Given the description of an element on the screen output the (x, y) to click on. 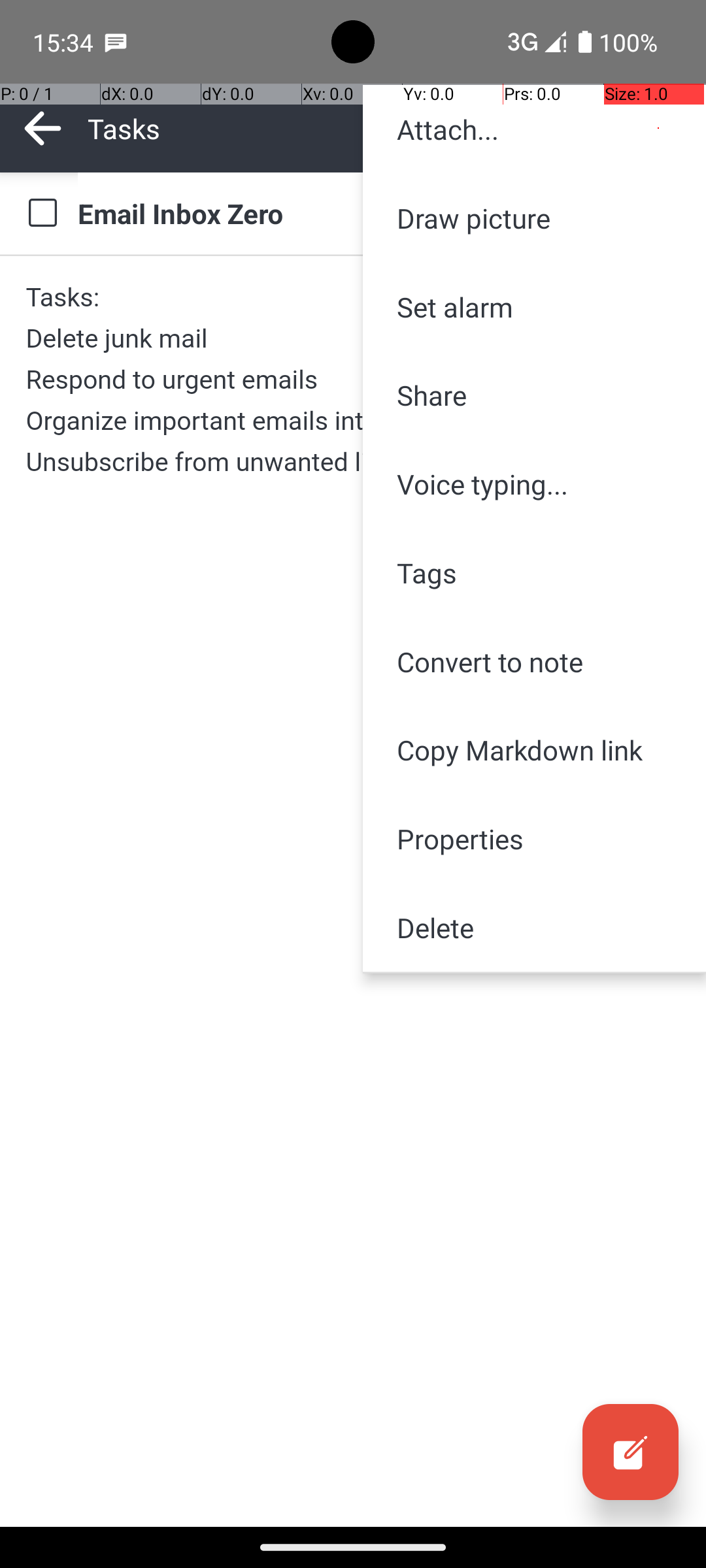
Email Inbox Zero Element type: android.widget.EditText (378, 213)
Attach... Element type: android.widget.TextView (534, 129)
Draw picture Element type: android.widget.TextView (534, 217)
Set alarm Element type: android.widget.TextView (534, 306)
Voice typing... Element type: android.widget.TextView (534, 484)
Tags Element type: android.widget.TextView (534, 572)
Convert to note Element type: android.widget.TextView (534, 661)
Copy Markdown link Element type: android.widget.TextView (534, 749)
Properties Element type: android.widget.TextView (534, 838)
Tasks:
Delete junk mail
Respond to urgent emails
Organize important emails into folders
Unsubscribe from unwanted lists Element type: android.widget.TextView (352, 379)
